Given the description of an element on the screen output the (x, y) to click on. 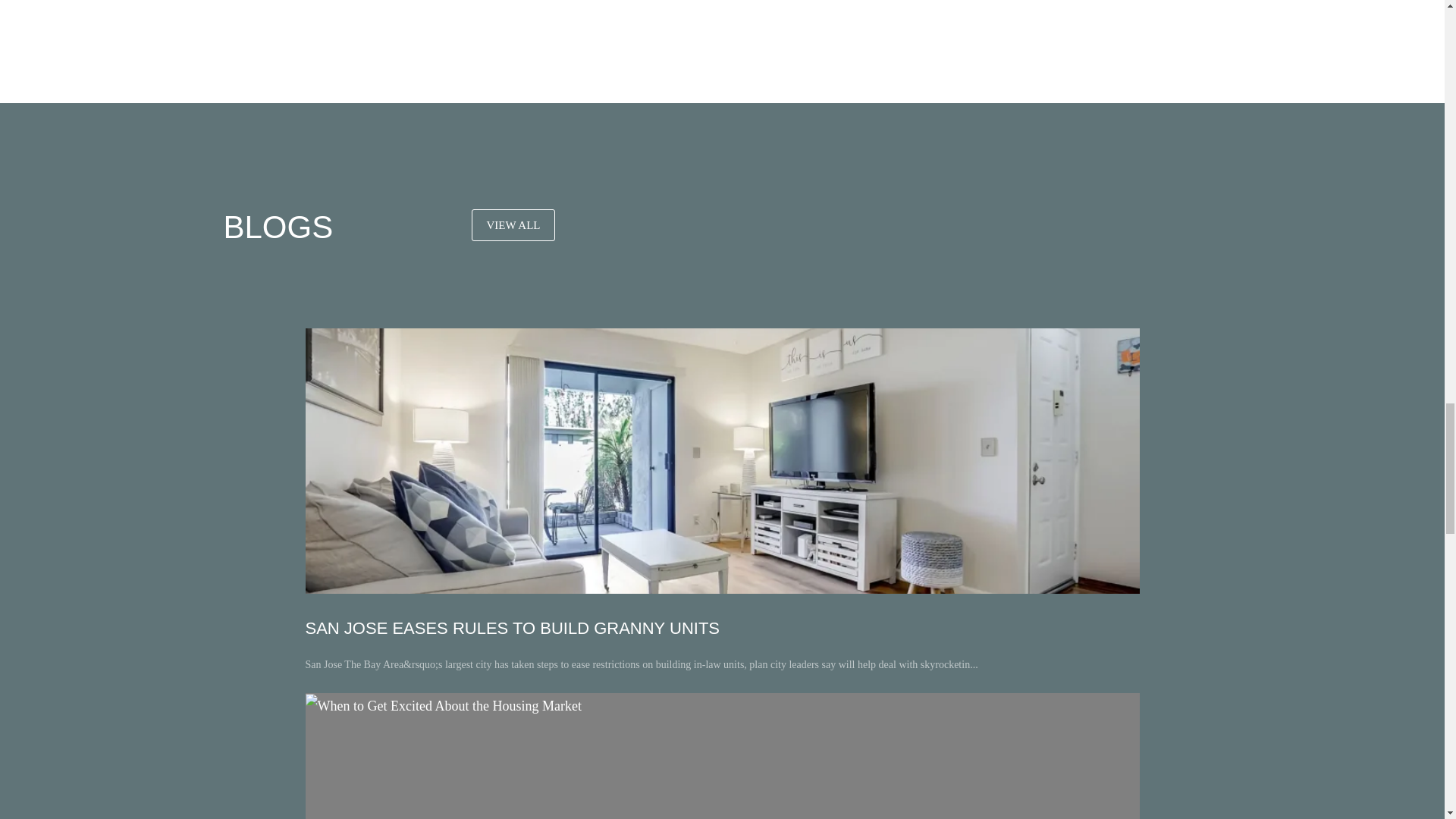
VIEW ALL (513, 224)
